Given the description of an element on the screen output the (x, y) to click on. 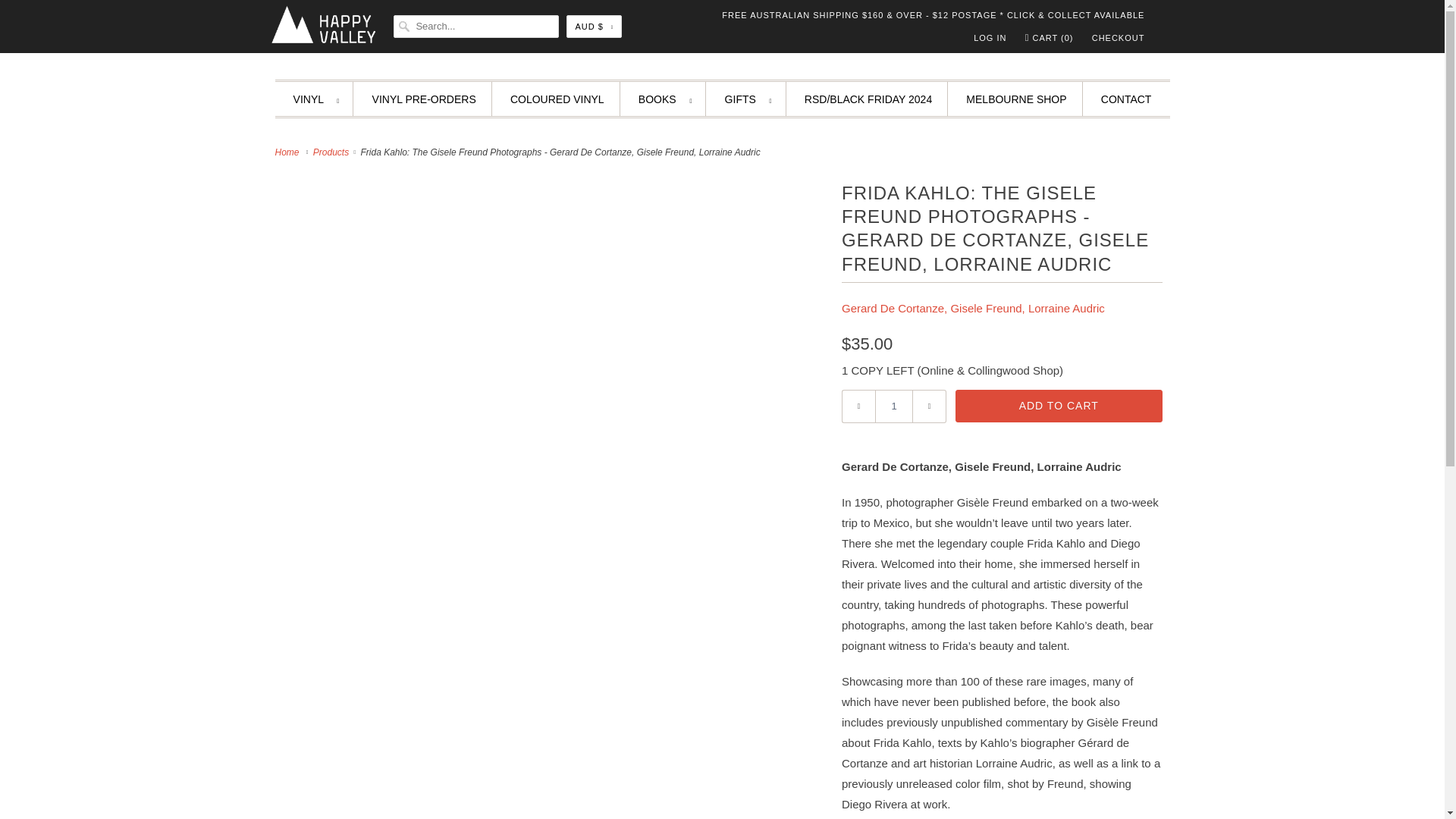
Products (332, 152)
Happy Valley (288, 152)
CHECKOUT (1118, 37)
COLOURED VINYL (557, 99)
VINYL PRE-ORDERS (424, 99)
LOG IN (990, 37)
1 (893, 406)
Gerard De Cortanze, Gisele Freund, Lorraine Audric (973, 308)
